Given the description of an element on the screen output the (x, y) to click on. 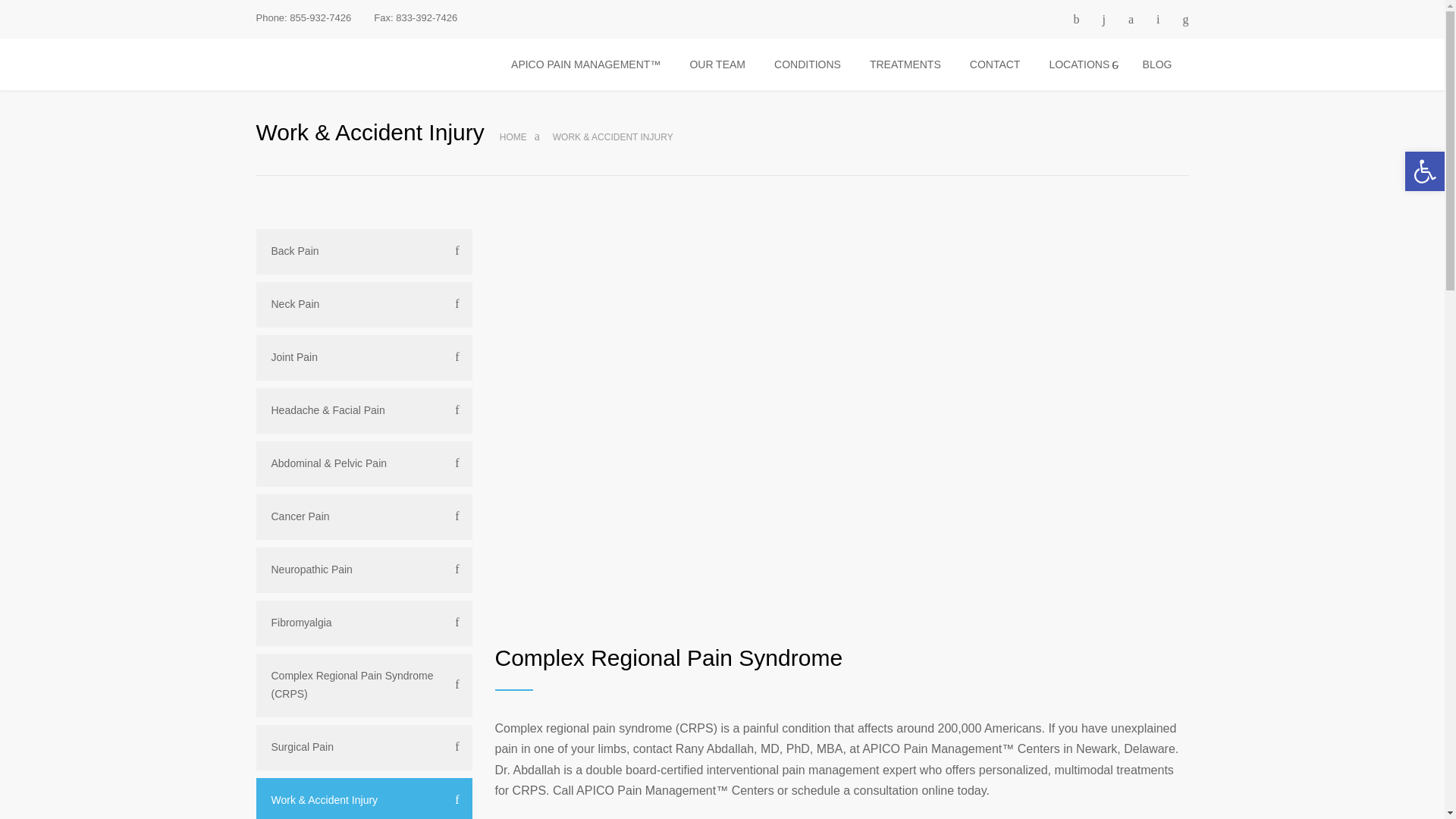
Accessibility Tools (1424, 170)
Back Pain (363, 251)
CONTACT (995, 63)
Phone: 855-932-7426 (304, 17)
Neuropathic Pain (363, 569)
Cancer Pain (363, 516)
HOME (513, 136)
Fax: 833-392-7426 (415, 17)
Home (513, 136)
CONDITIONS (807, 63)
BLOG (1158, 63)
Joint Pain (363, 357)
Neck Pain (363, 304)
Fibromyalgia (363, 623)
TREATMENTS (905, 63)
